Given the description of an element on the screen output the (x, y) to click on. 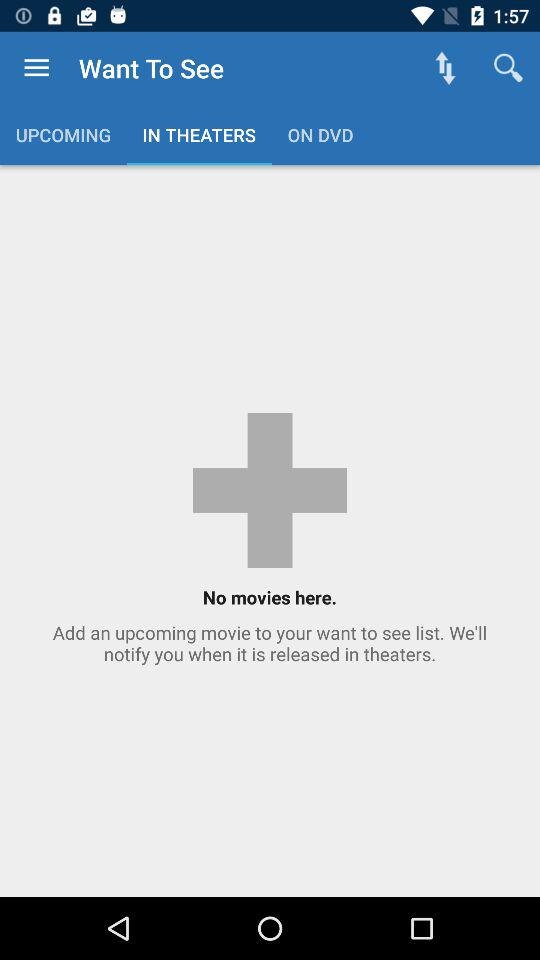
tap the item next to the want to see item (36, 68)
